Given the description of an element on the screen output the (x, y) to click on. 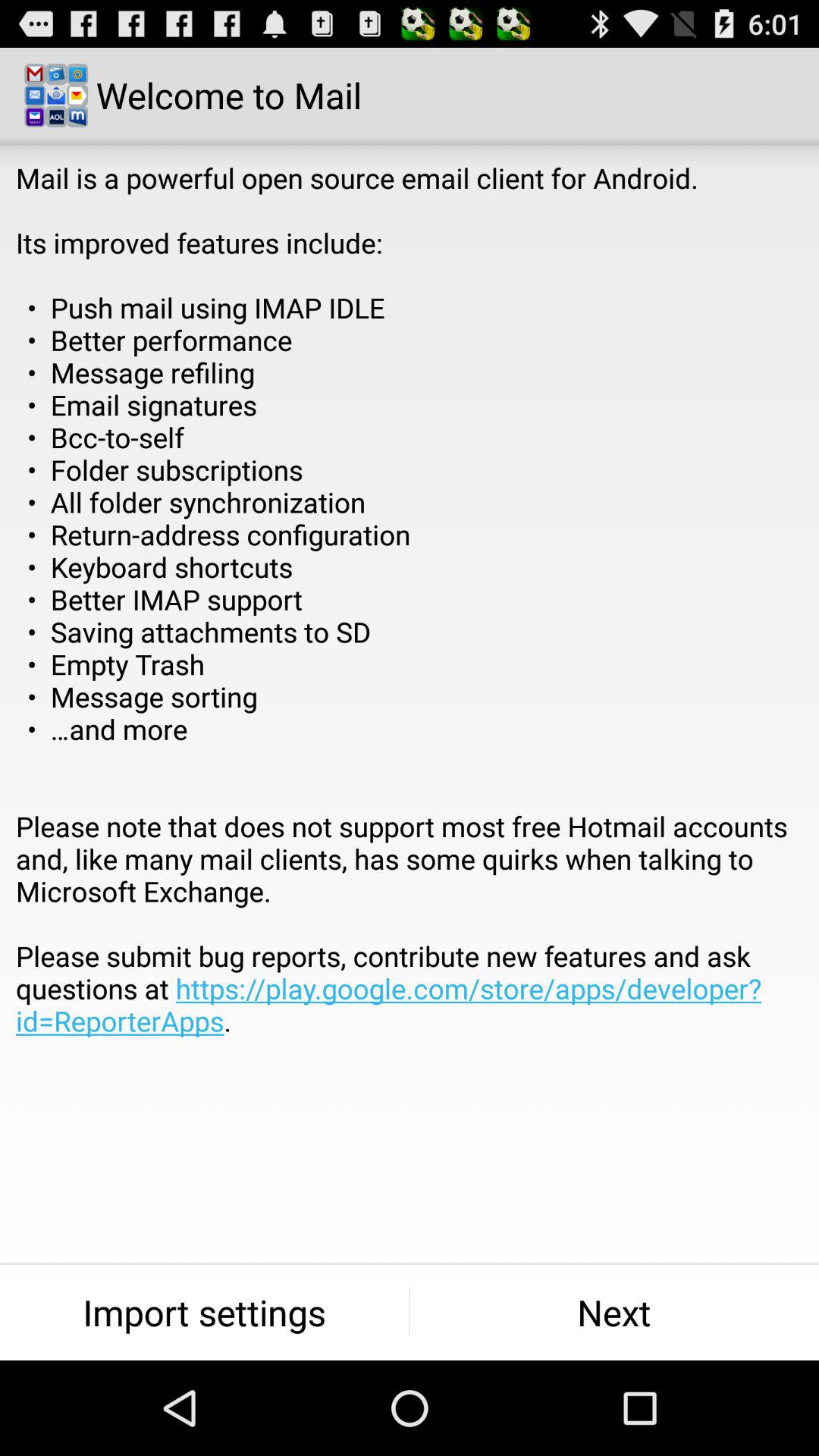
flip to the mail is a item (409, 631)
